Given the description of an element on the screen output the (x, y) to click on. 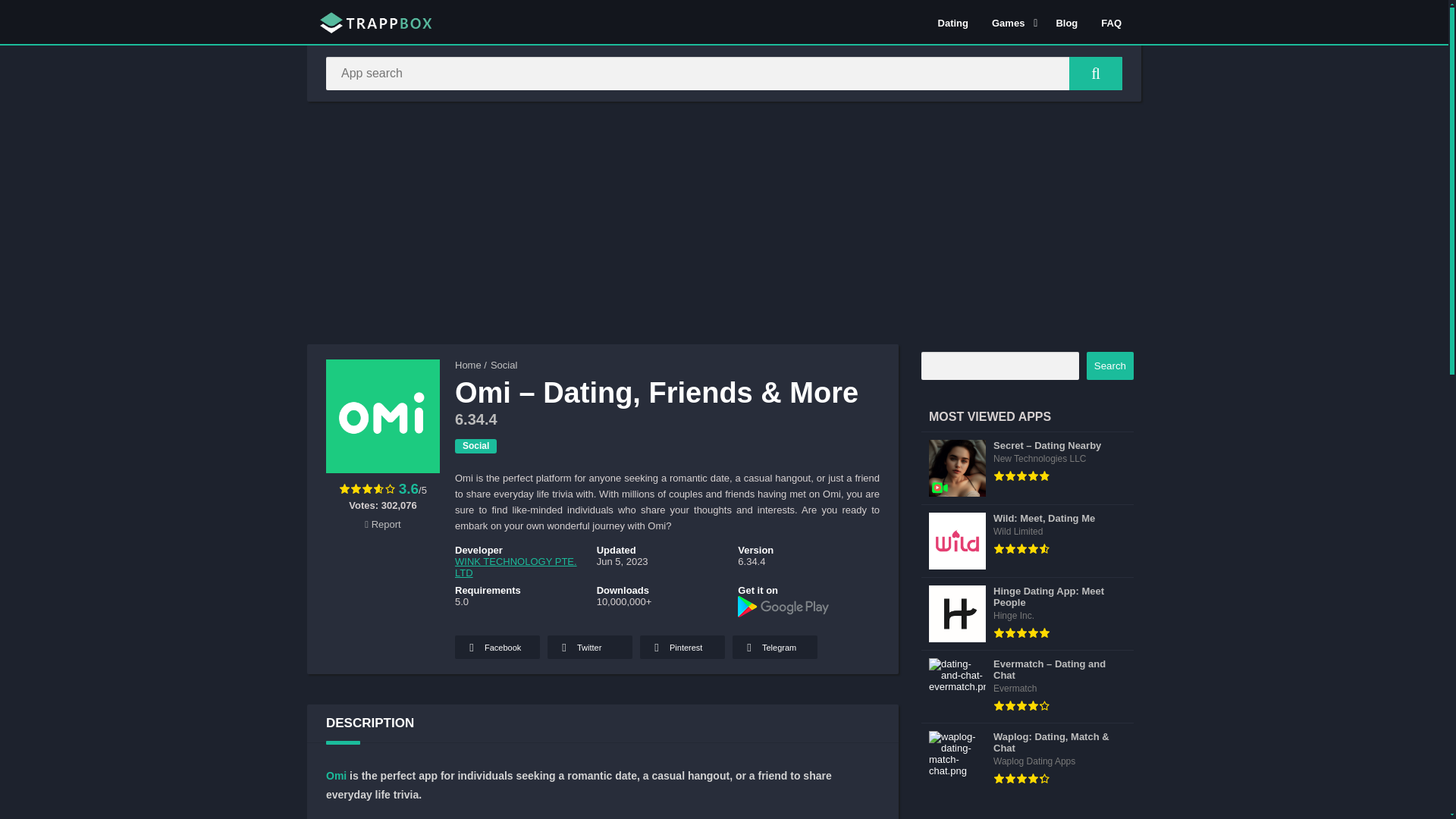
Dating (952, 22)
Social (475, 445)
Social (503, 365)
FAQ (1110, 22)
Home (467, 365)
Twitter (589, 647)
Report (382, 523)
Games (1011, 22)
Omi (336, 775)
Blog (1066, 22)
